Given the description of an element on the screen output the (x, y) to click on. 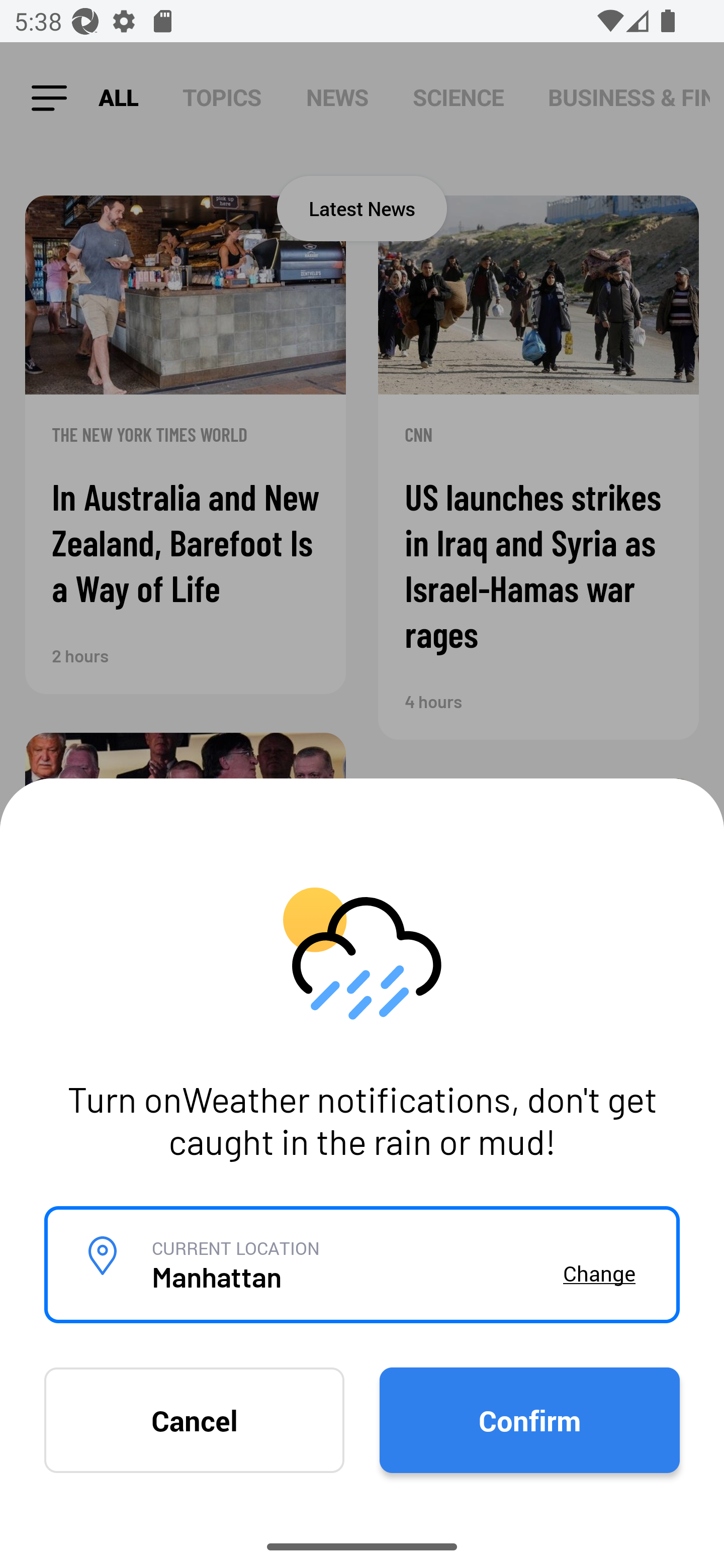
location icon CURRENT LOCATION Manhattan Change (361, 1265)
Change (598, 1272)
Cancel (194, 1419)
Confirm (529, 1419)
